Given the description of an element on the screen output the (x, y) to click on. 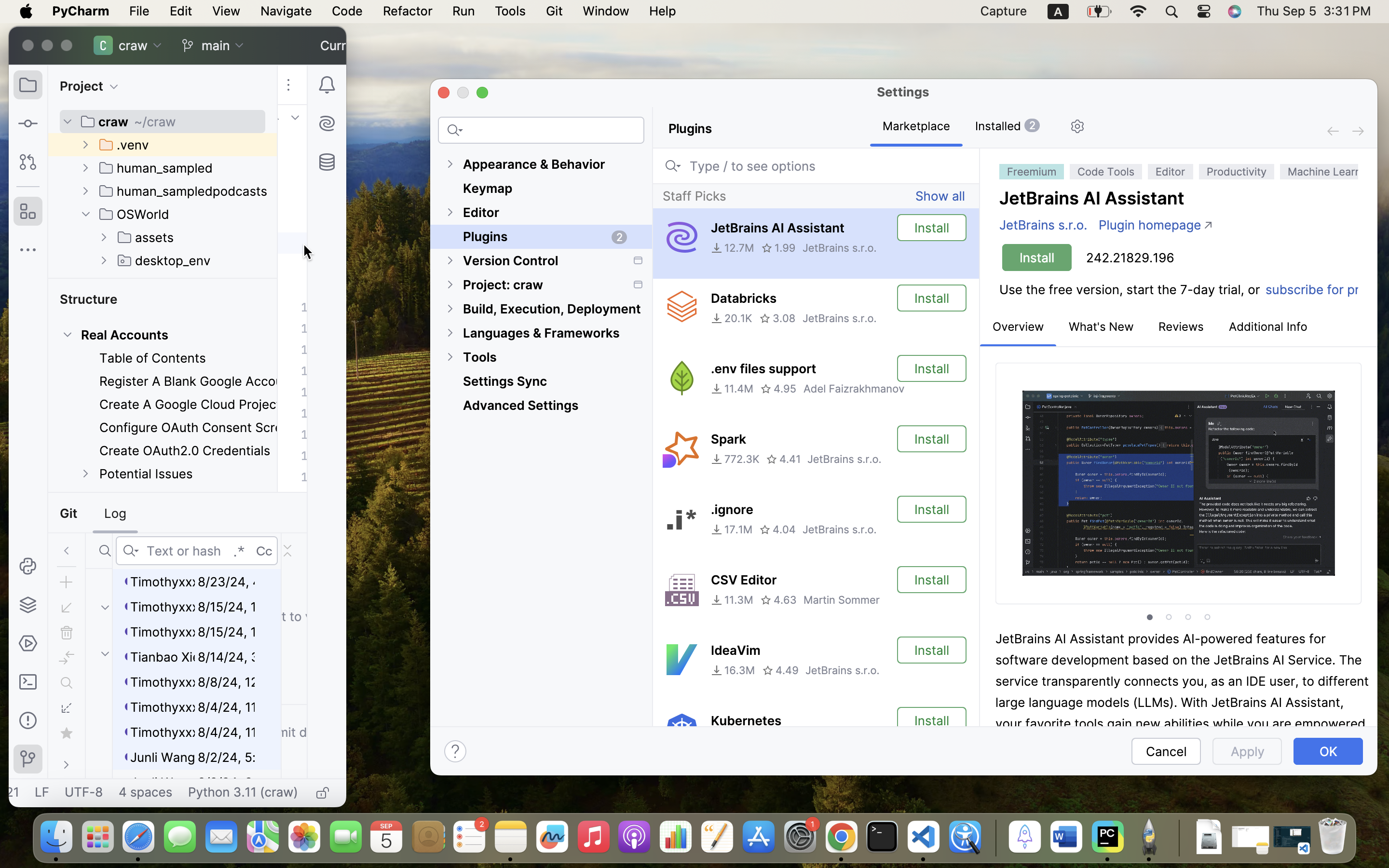
Spark Element type: AXStaticText (728, 439)
772.3K Element type: AXStaticText (734, 458)
.env files support Element type: AXStaticText (763, 368)
4.41 Element type: AXStaticText (782, 458)
IdeaVim Element type: AXStaticText (735, 650)
